Given the description of an element on the screen output the (x, y) to click on. 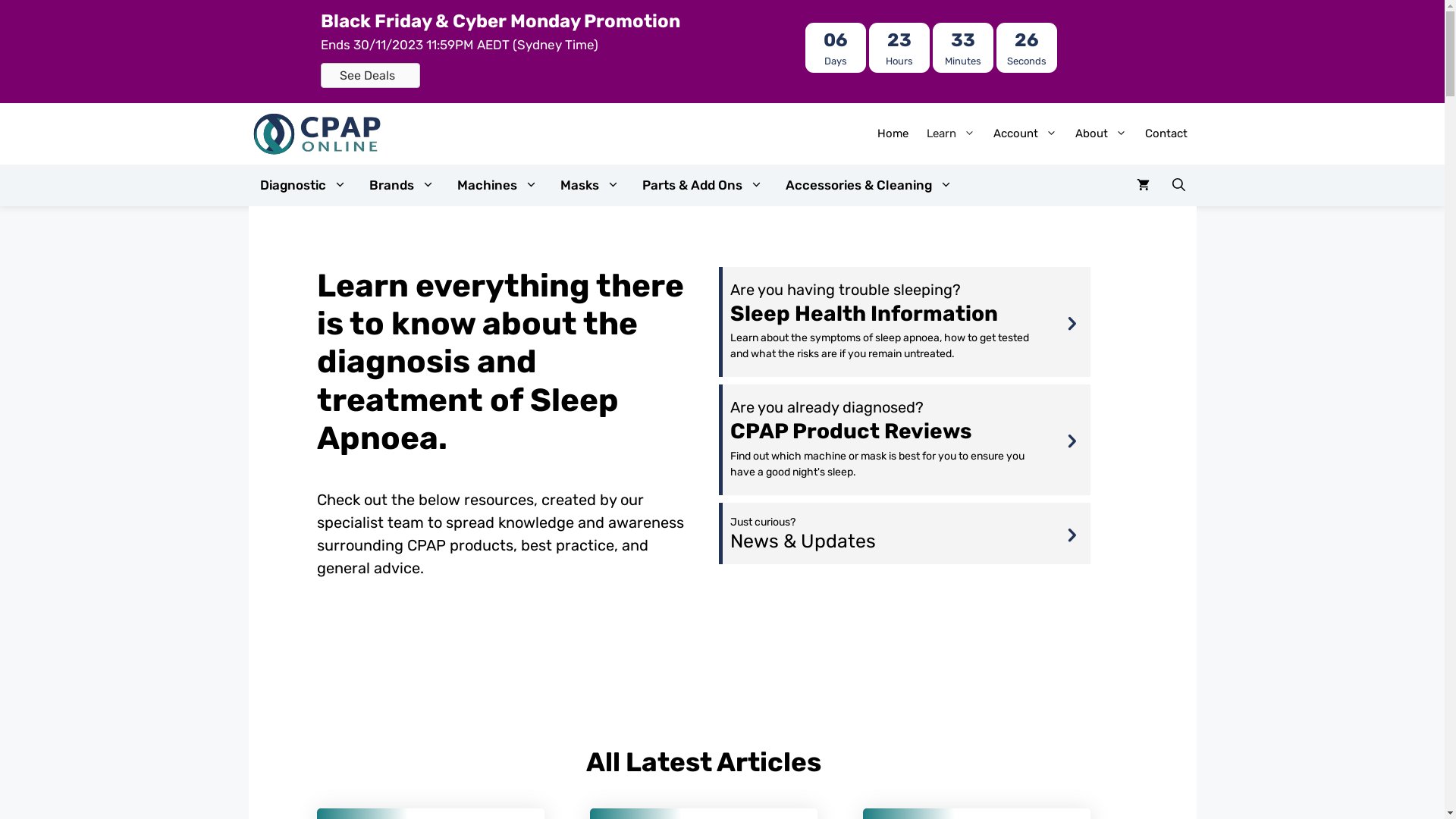
Masks Element type: text (589, 185)
Home Element type: text (891, 133)
Diagnostic Element type: text (302, 185)
Brands Element type: text (401, 185)
Contact Element type: text (1165, 133)
Accessories & Cleaning Element type: text (868, 185)
View your shopping cart Element type: hover (1143, 185)
Learn Element type: text (950, 133)
See Deals Element type: text (369, 74)
Parts & Add Ons Element type: text (702, 185)
Machines Element type: text (497, 185)
Account Element type: text (1025, 133)
About Element type: text (1100, 133)
